Given the description of an element on the screen output the (x, y) to click on. 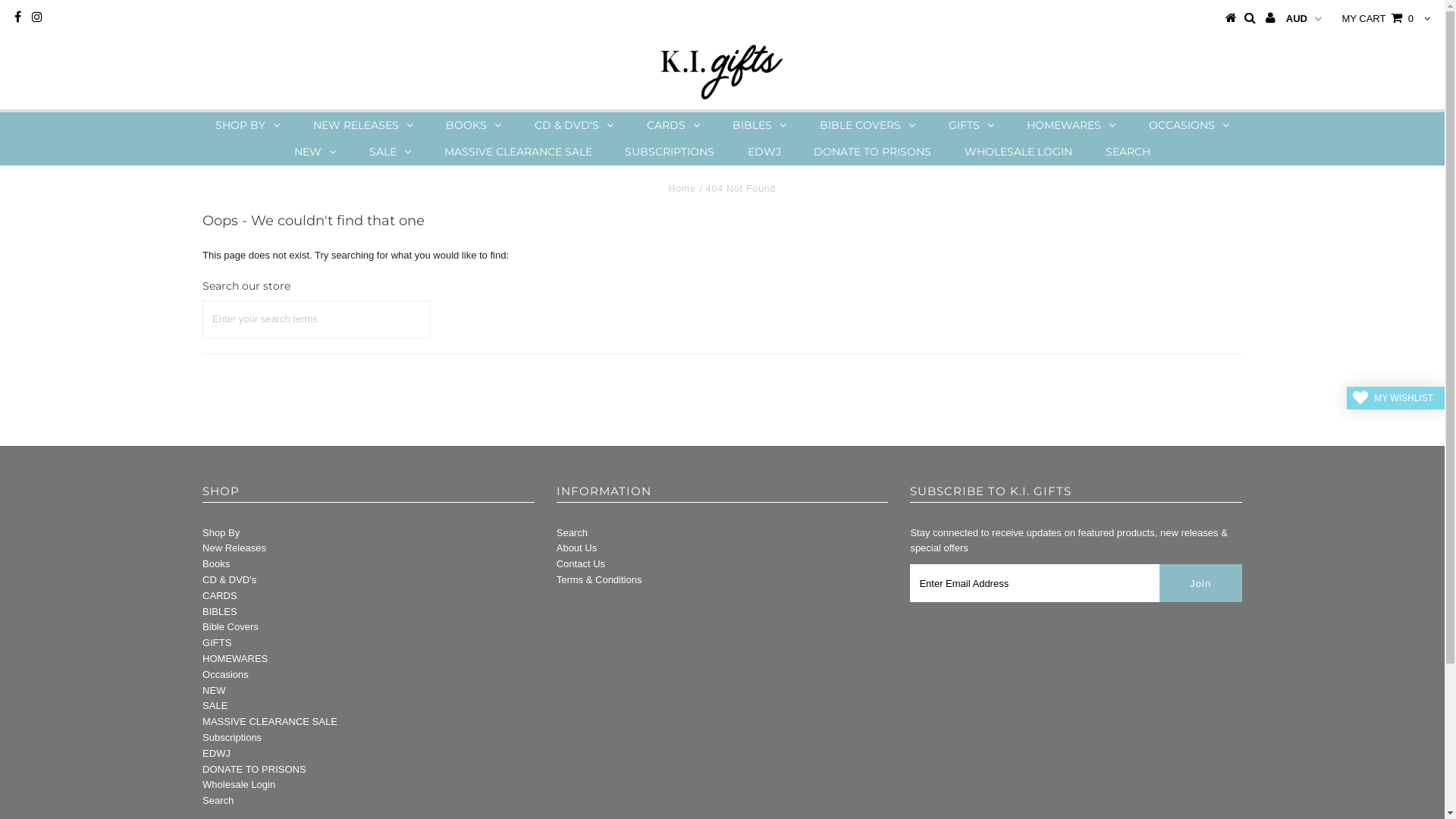
Join Element type: text (1200, 583)
NEW Element type: text (213, 690)
BIBLE COVERS Element type: text (867, 125)
SALE Element type: text (214, 705)
Subscriptions Element type: text (231, 737)
GIFTS Element type: text (216, 642)
Shop By Element type: text (220, 532)
CD & DVD'S Element type: text (573, 125)
SHOP BY Element type: text (247, 125)
CARDS Element type: text (219, 595)
Occasions Element type: text (225, 674)
WHOLESALE LOGIN Element type: text (1018, 151)
About Us Element type: text (576, 547)
MASSIVE CLEARANCE SALE Element type: text (518, 151)
DONATE TO PRISONS Element type: text (254, 768)
Books Element type: text (215, 563)
HOMEWARES Element type: text (1070, 125)
NEW Element type: text (315, 151)
Bible Covers Element type: text (230, 626)
MASSIVE CLEARANCE SALE Element type: text (269, 721)
SEARCH Element type: text (1127, 151)
CARDS Element type: text (673, 125)
SUBSCRIPTIONS Element type: text (669, 151)
OCCASIONS Element type: text (1188, 125)
Contact Us Element type: text (580, 563)
HOMEWARES Element type: text (234, 658)
DONATE TO PRISONS Element type: text (872, 151)
MY CART    0 Element type: text (1377, 18)
New Releases Element type: text (234, 547)
Search Element type: text (217, 800)
MY WISHLIST Element type: text (1395, 397)
CD & DVD's Element type: text (229, 579)
BOOKS Element type: text (473, 125)
Search Element type: text (571, 532)
NEW RELEASES Element type: text (363, 125)
EDWJ Element type: text (764, 151)
Home Element type: text (682, 188)
BIBLES Element type: text (219, 611)
Wholesale Login Element type: text (238, 784)
SALE Element type: text (390, 151)
BIBLES Element type: text (759, 125)
EDWJ Element type: text (216, 753)
Terms & Conditions Element type: text (599, 579)
GIFTS Element type: text (971, 125)
